Given the description of an element on the screen output the (x, y) to click on. 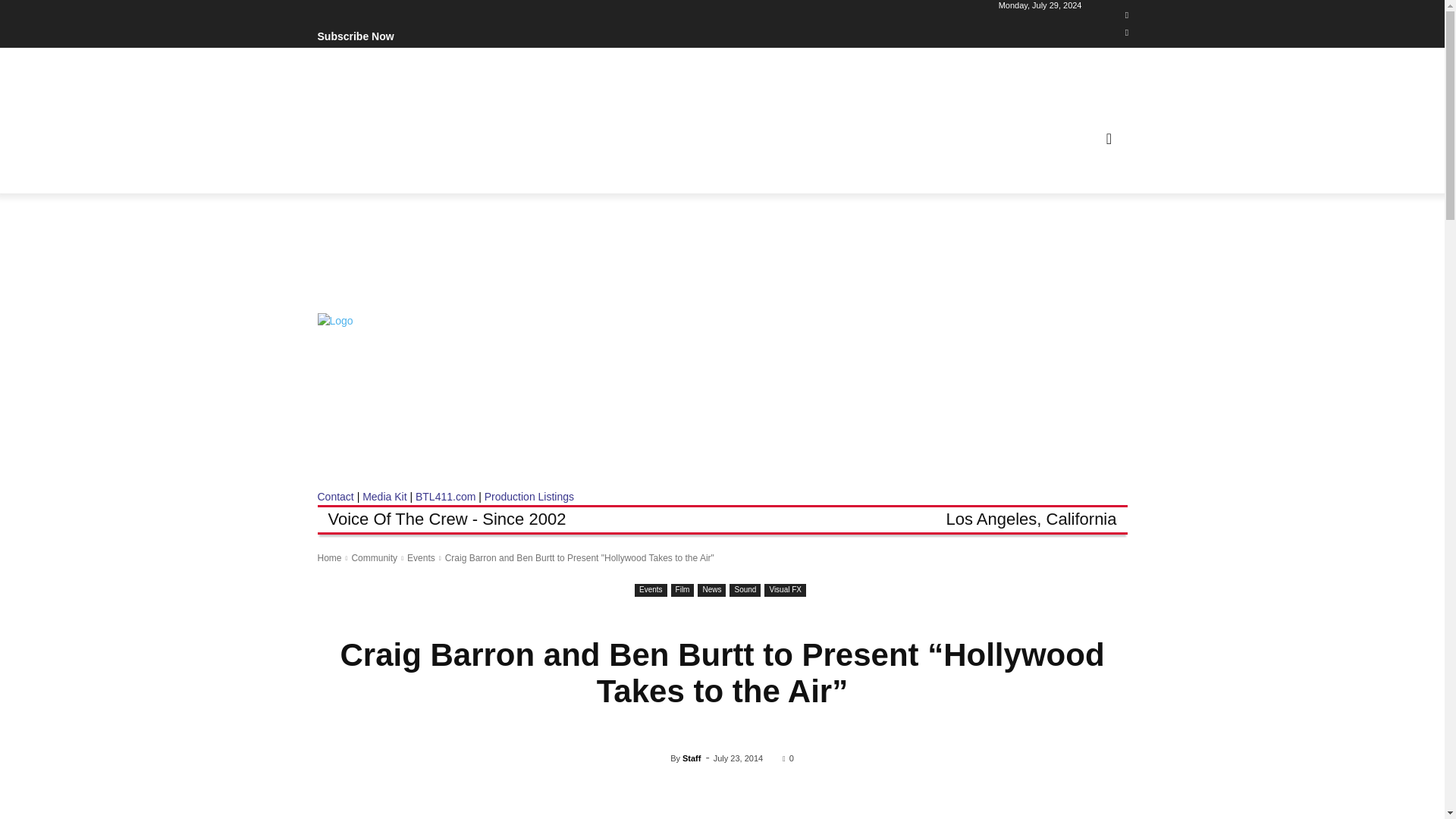
View all posts in Events (421, 557)
Staff (659, 758)
Twitter (1126, 32)
Facebook (1126, 15)
View all posts in Community (373, 557)
